Given the description of an element on the screen output the (x, y) to click on. 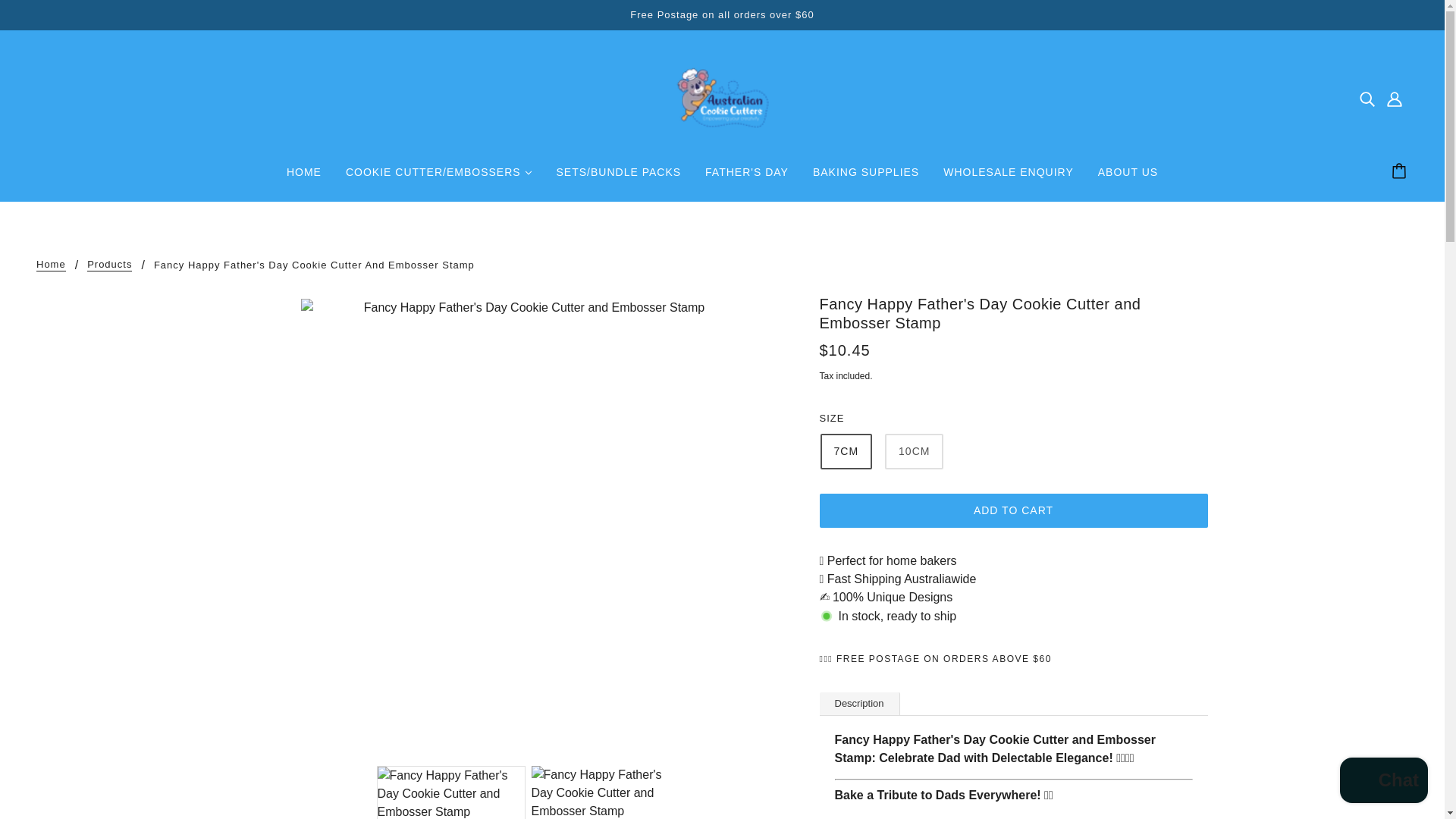
Shopify online store chat (1383, 781)
Products (109, 265)
ABOUT US (1128, 177)
Australian Cookie Cutters (722, 97)
BAKING SUPPLIES (865, 177)
ADD TO CART (1012, 510)
HOME (304, 177)
FATHER'S DAY (746, 177)
Description (858, 703)
Home (50, 265)
